Given the description of an element on the screen output the (x, y) to click on. 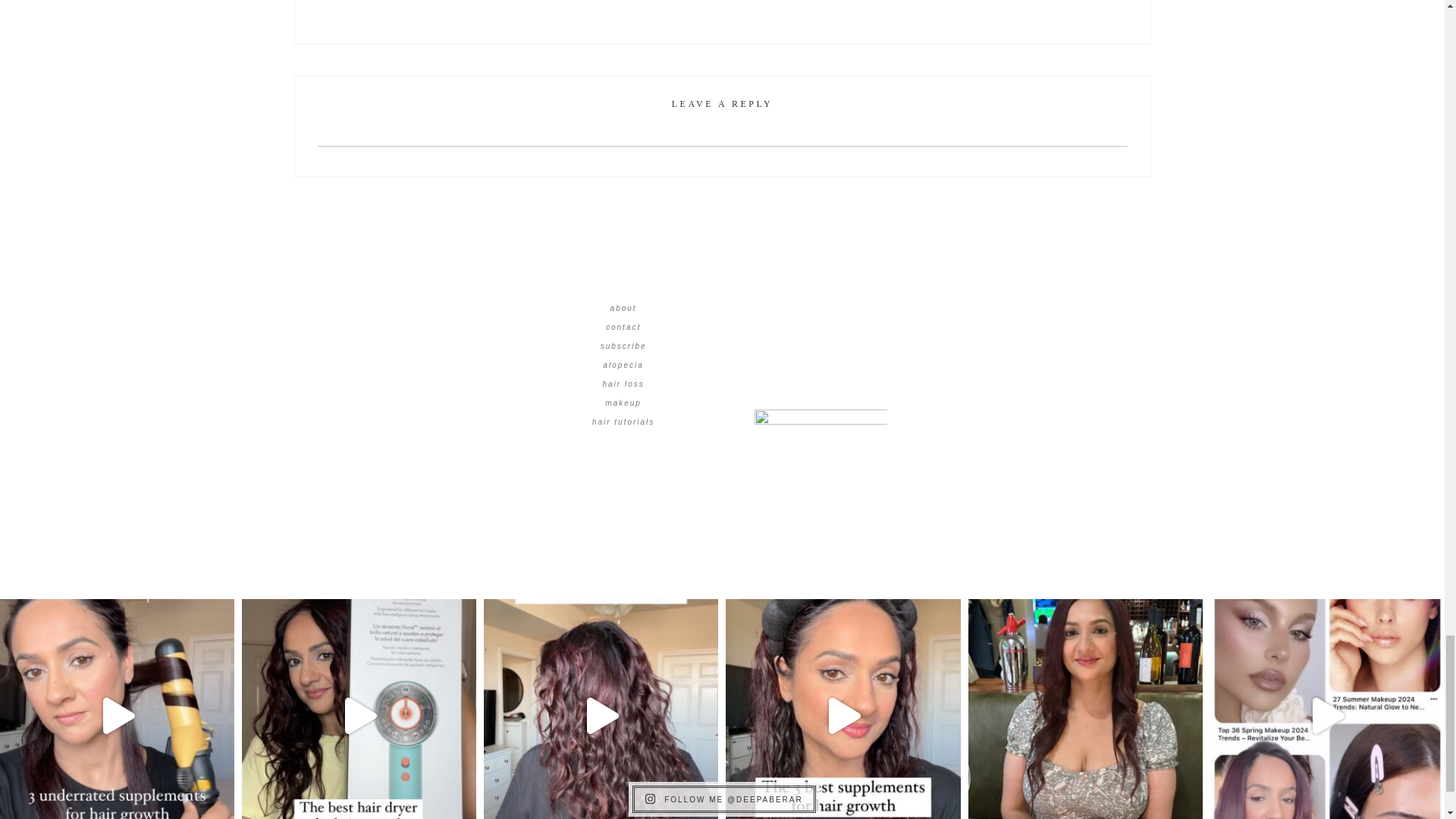
about (623, 307)
